Given the description of an element on the screen output the (x, y) to click on. 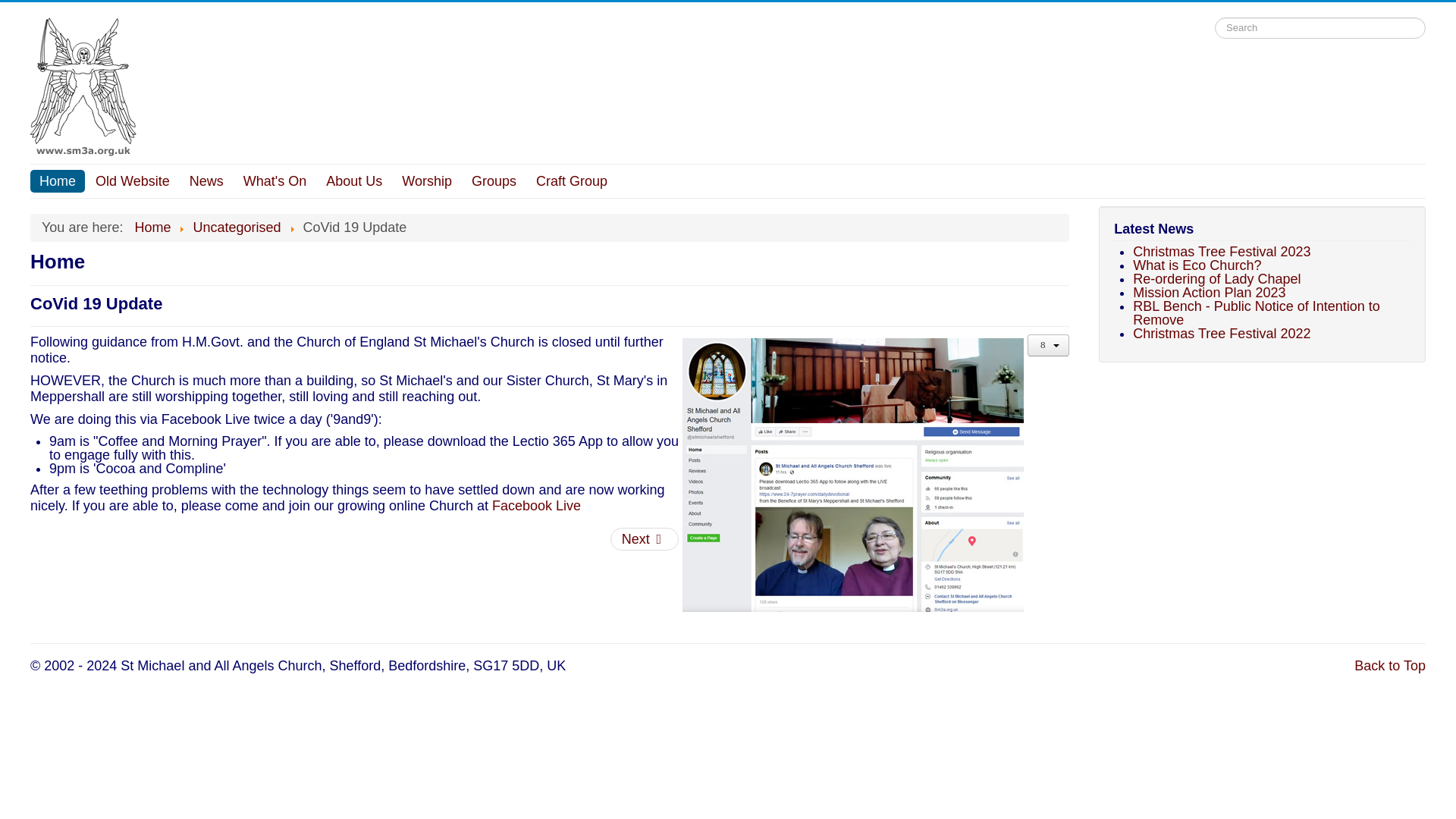
Home (151, 227)
Home (57, 180)
Worship (427, 180)
Uncategorised (236, 227)
Groups (494, 180)
Facebook Live (536, 505)
Christmas Tree Festival 2022 (1221, 333)
Old Website (132, 180)
Mission Action Plan 2023 (1208, 292)
Re-ordering of Lady Chapel (1216, 278)
